Given the description of an element on the screen output the (x, y) to click on. 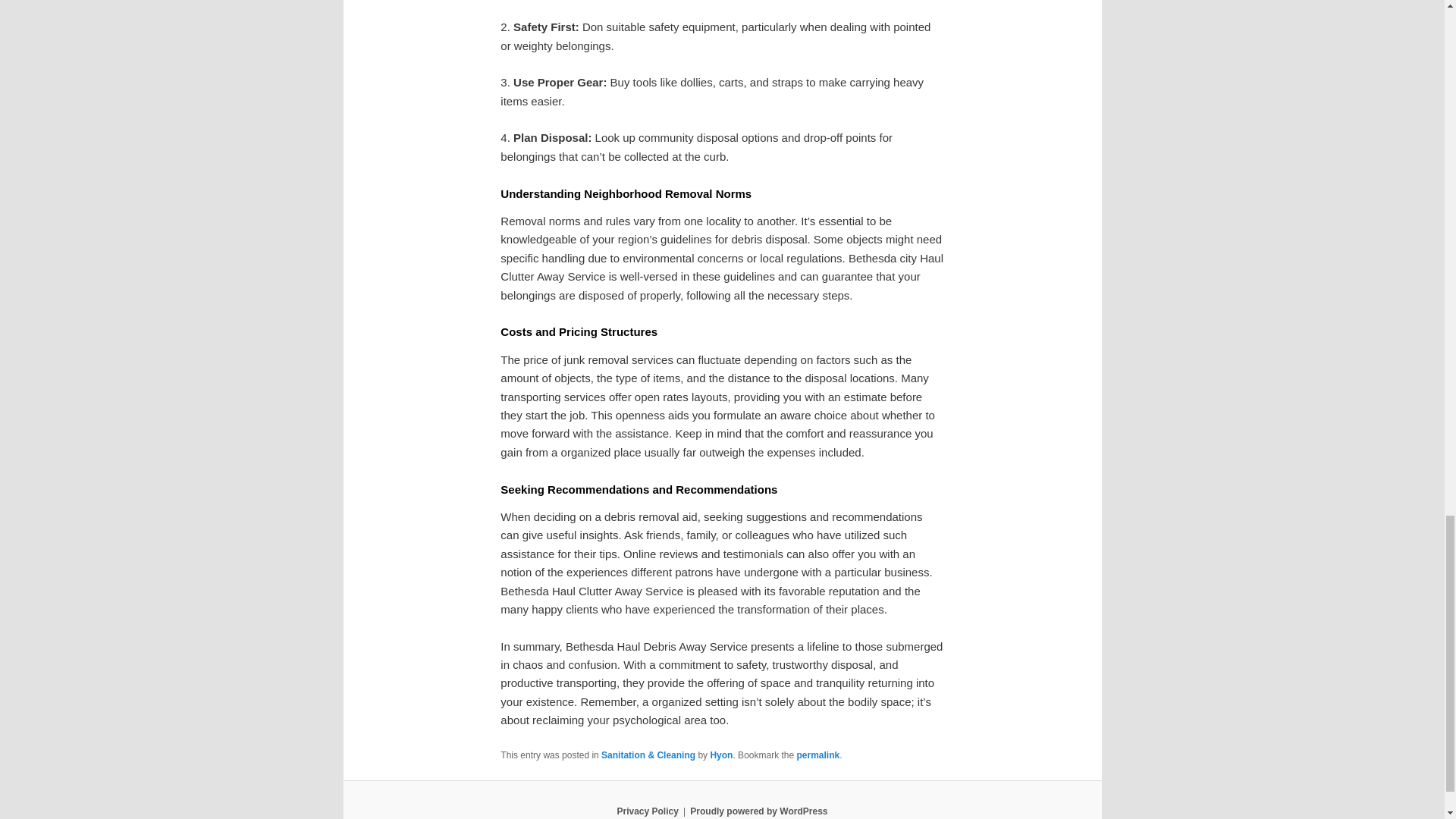
Permalink to The Revolution of Bethesda Home Junk Removal (818, 755)
Semantic Personal Publishing Platform (758, 810)
Privacy Policy (646, 810)
Proudly powered by WordPress (758, 810)
Hyon (721, 755)
permalink (818, 755)
